Given the description of an element on the screen output the (x, y) to click on. 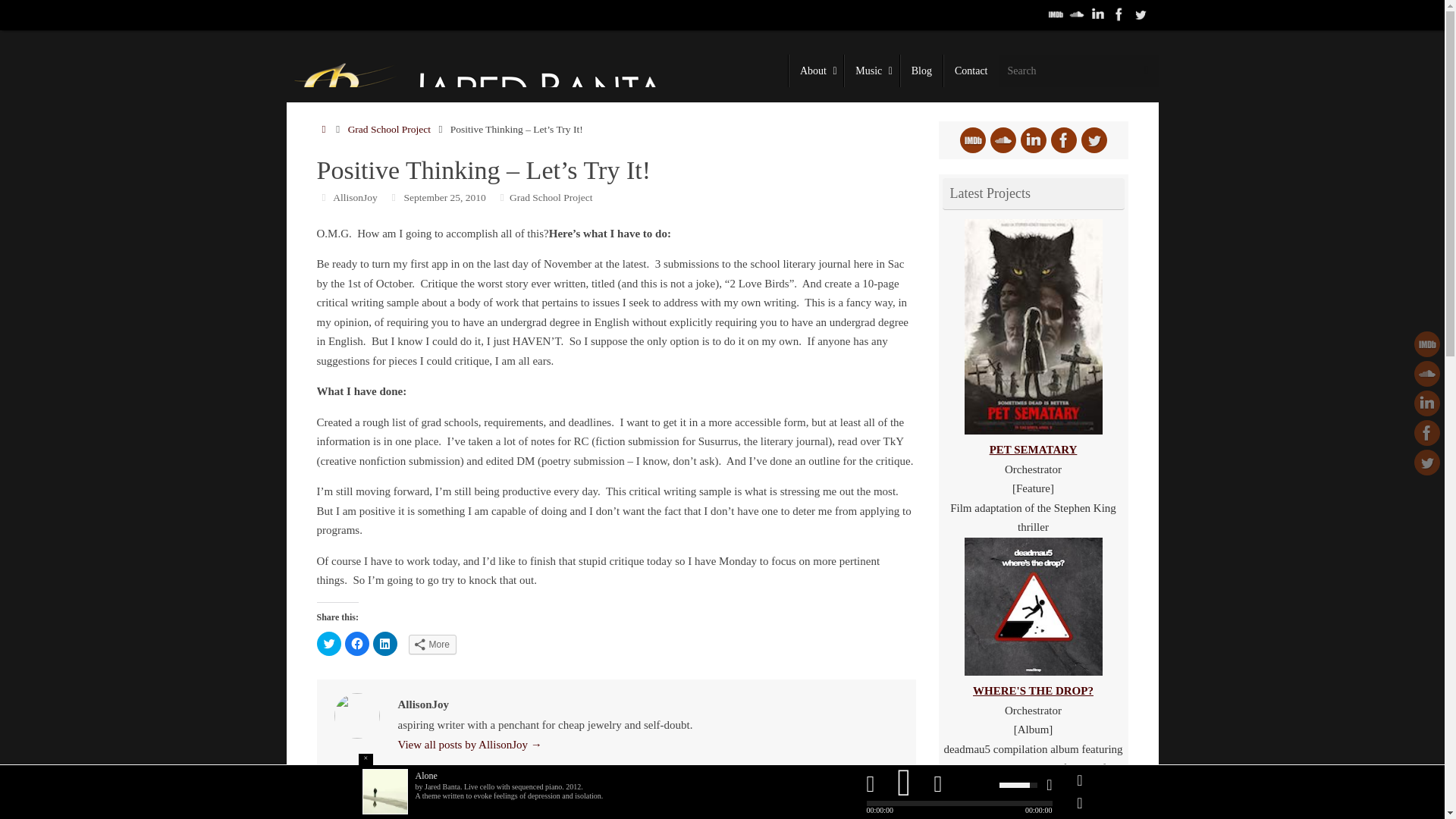
LinkedIn (1426, 403)
RSS Feed (1140, 14)
Grad School Project (550, 197)
Home (324, 129)
facebook (1426, 432)
LinkedIn (1097, 14)
SoundCloud (1426, 373)
September 25, 2010 (443, 197)
Jared Banta (482, 102)
SoundCloud (1076, 14)
About (816, 70)
More (431, 644)
Author  (324, 197)
IMDb (1055, 14)
AllisonJoy (355, 197)
